Given the description of an element on the screen output the (x, y) to click on. 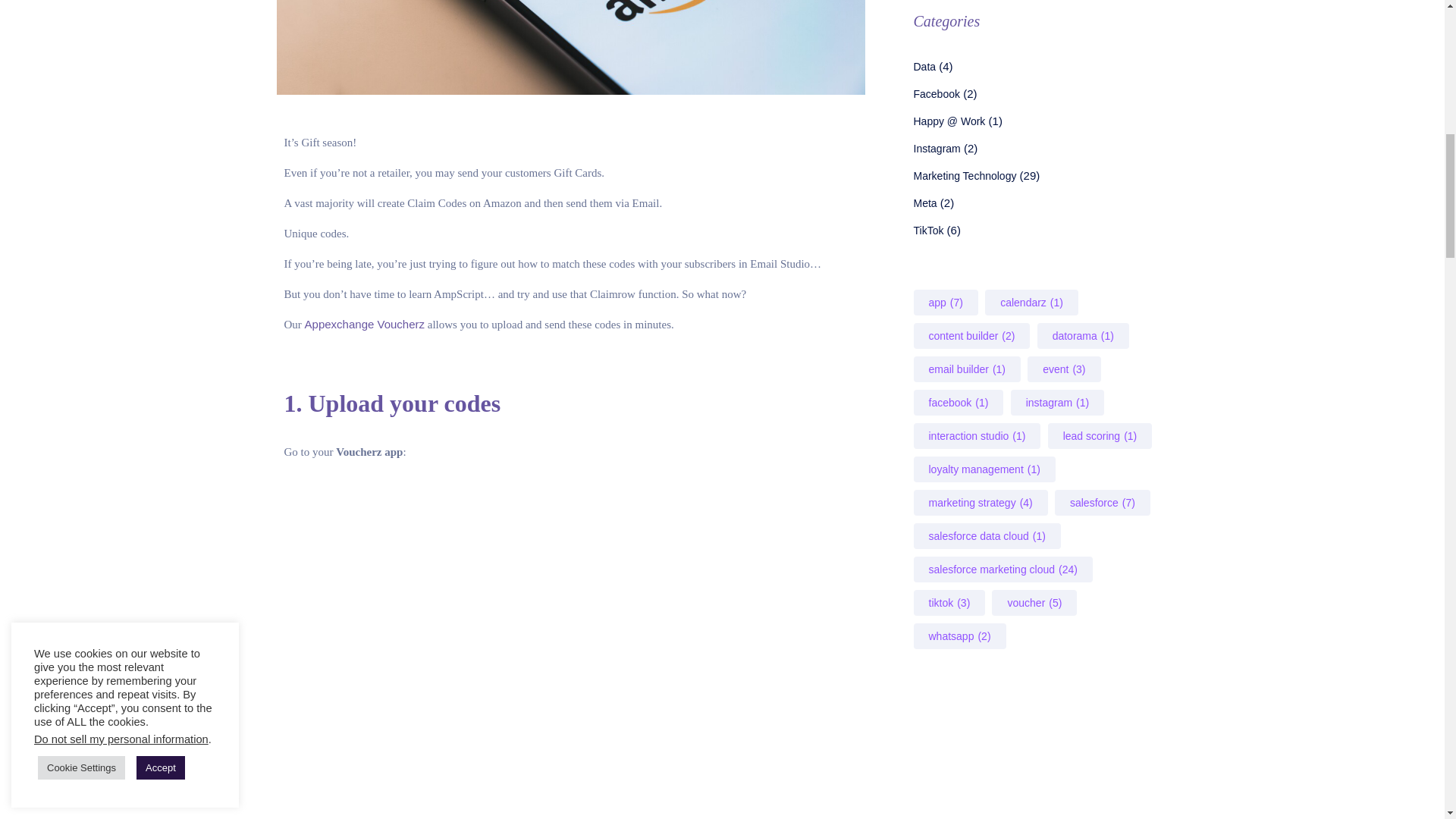
Data (924, 66)
Meta (924, 203)
Marketing Technology (964, 175)
Instagram (935, 148)
TikTok (927, 230)
Facebook (935, 93)
Appexchange Voucherz (364, 323)
